Given the description of an element on the screen output the (x, y) to click on. 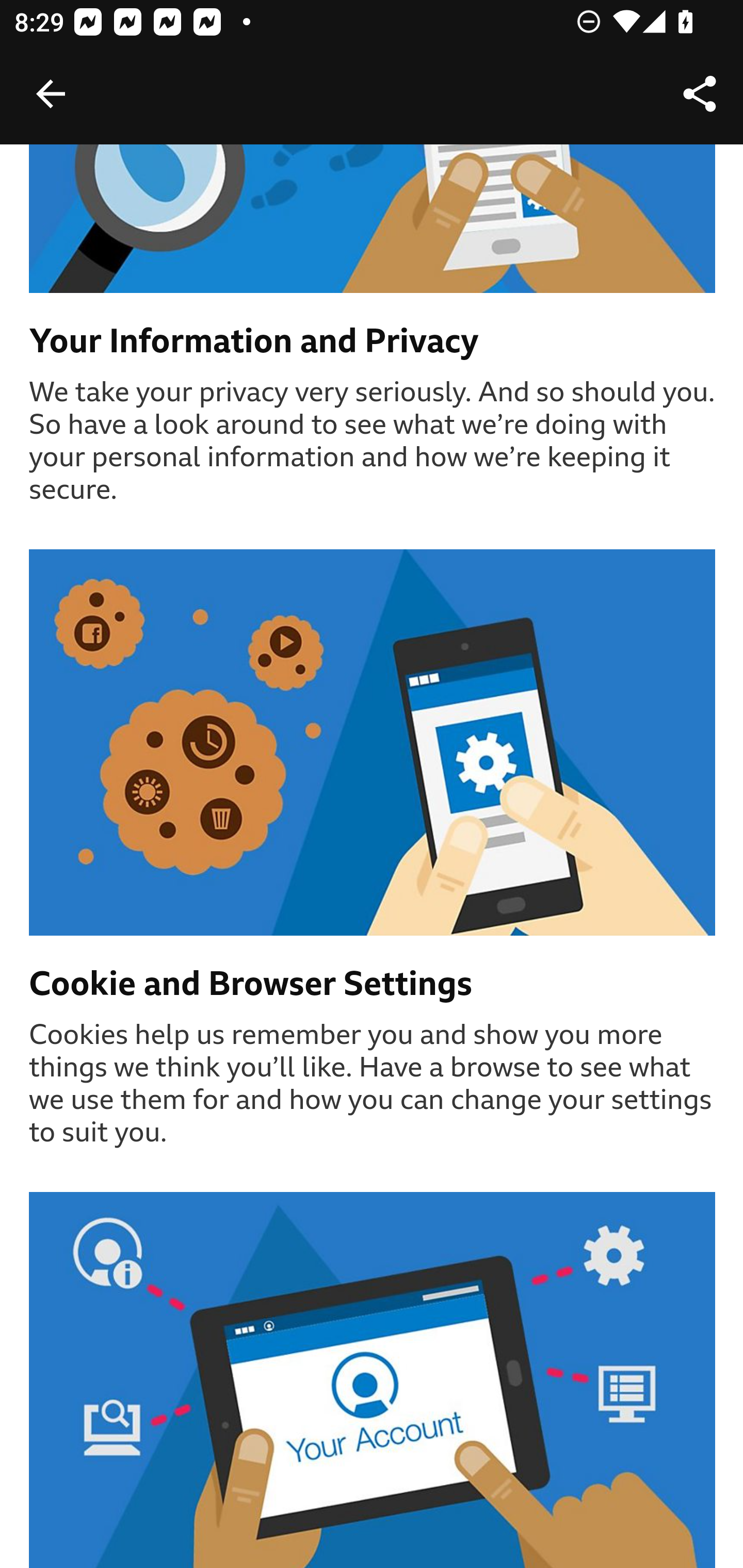
Back (50, 93)
Share (699, 93)
Your Information and Privacy (372, 344)
Cookie and Browser Settings (372, 985)
